Given the description of an element on the screen output the (x, y) to click on. 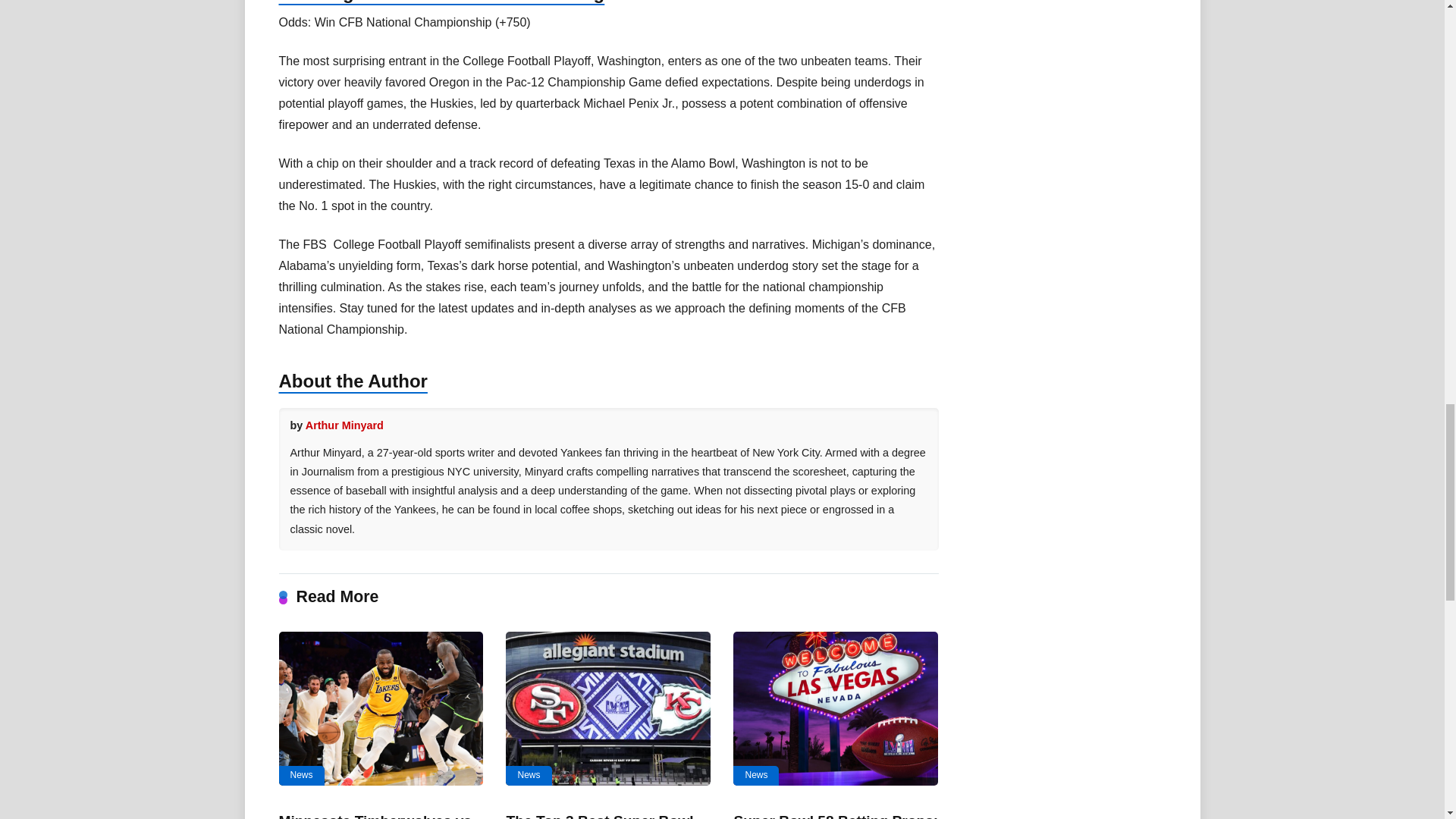
News (528, 774)
The Top 3 Best Super Bowl Bets for Super Bowl 58 (599, 816)
Super Bowl 58 Betting Props: Two Unique Ideas (835, 708)
The Top 3 Best Super Bowl Bets for Super Bowl 58 (607, 708)
The Top 3 Best Super Bowl Bets for Super Bowl 58 (599, 816)
News (301, 774)
Super Bowl 58 Betting Props: Two Unique Ideas (835, 816)
News (755, 774)
Arthur Minyard (344, 425)
Super Bowl 58 Betting Props: Two Unique Ideas (835, 816)
